Given the description of an element on the screen output the (x, y) to click on. 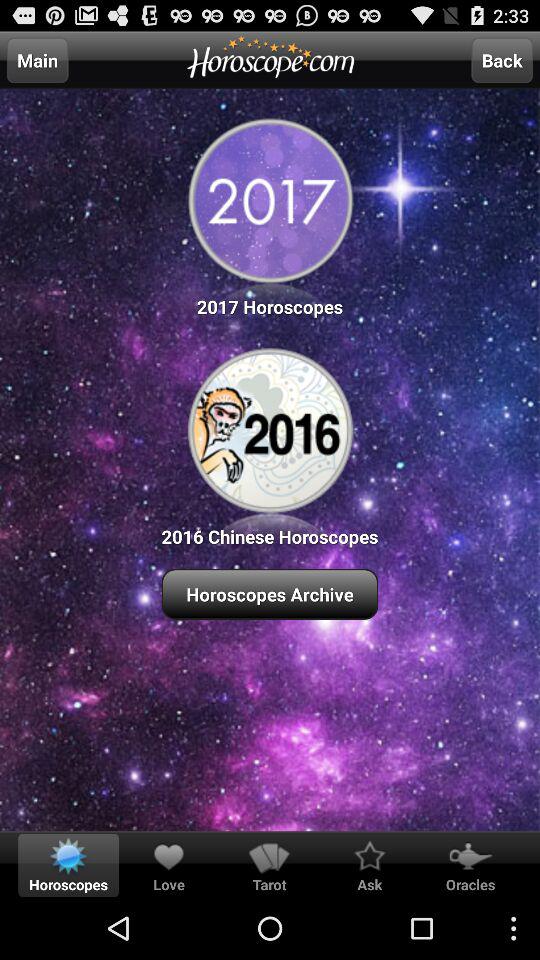
launch the button above the horoscopes archive item (269, 443)
